Given the description of an element on the screen output the (x, y) to click on. 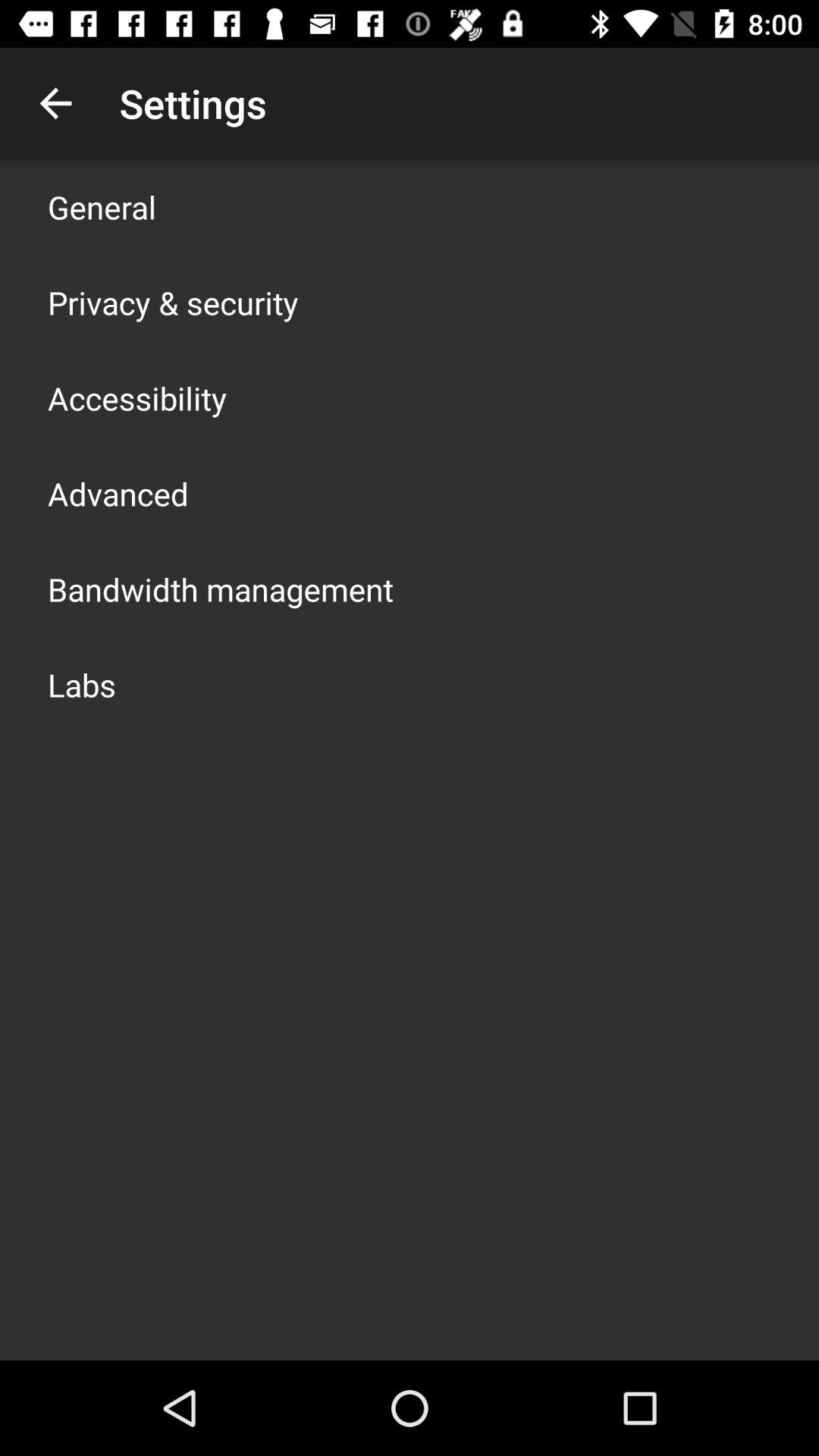
jump to the privacy & security icon (172, 302)
